Given the description of an element on the screen output the (x, y) to click on. 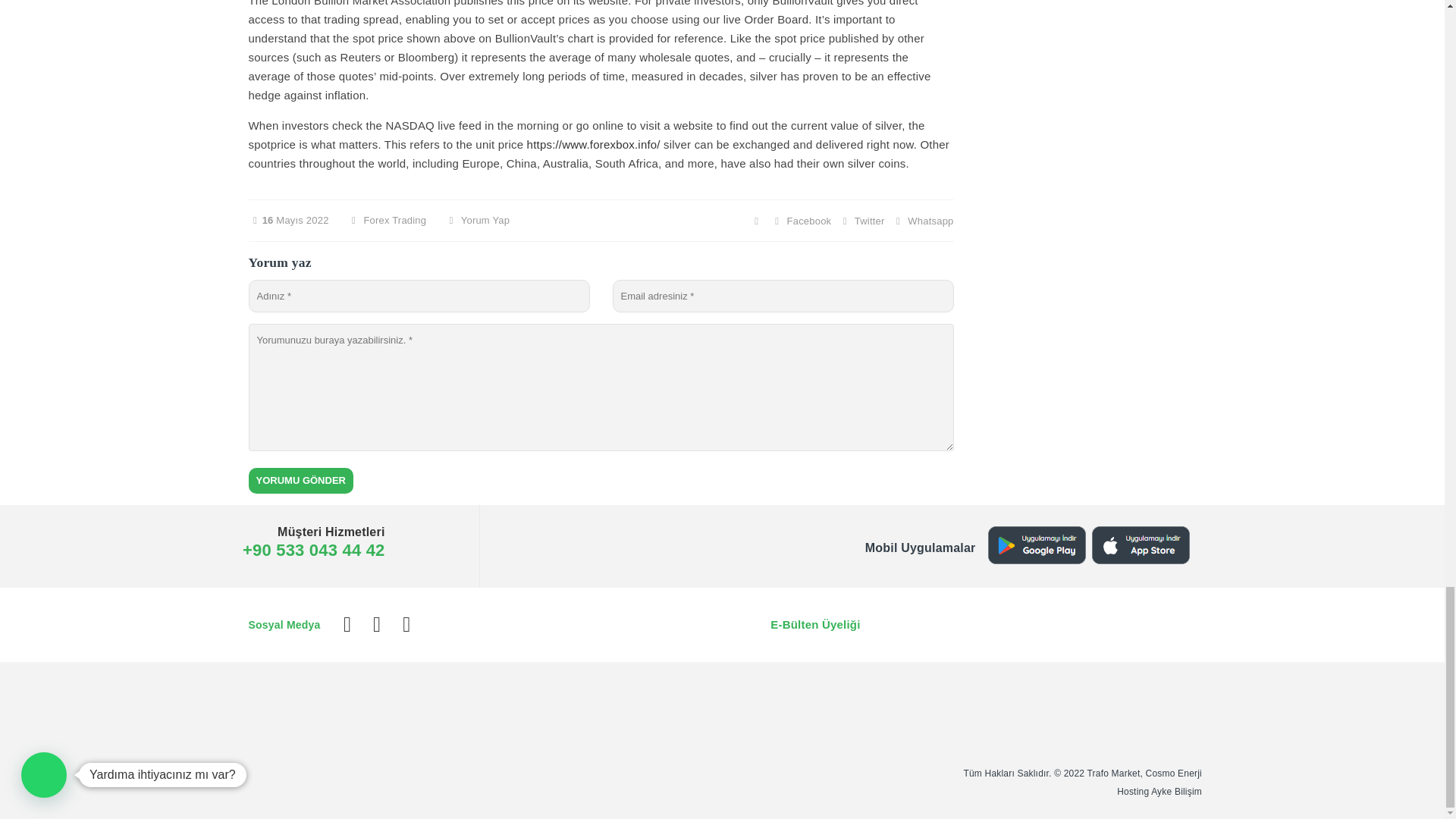
Forex Trading (394, 219)
Yorum Yap (476, 219)
